Given the description of an element on the screen output the (x, y) to click on. 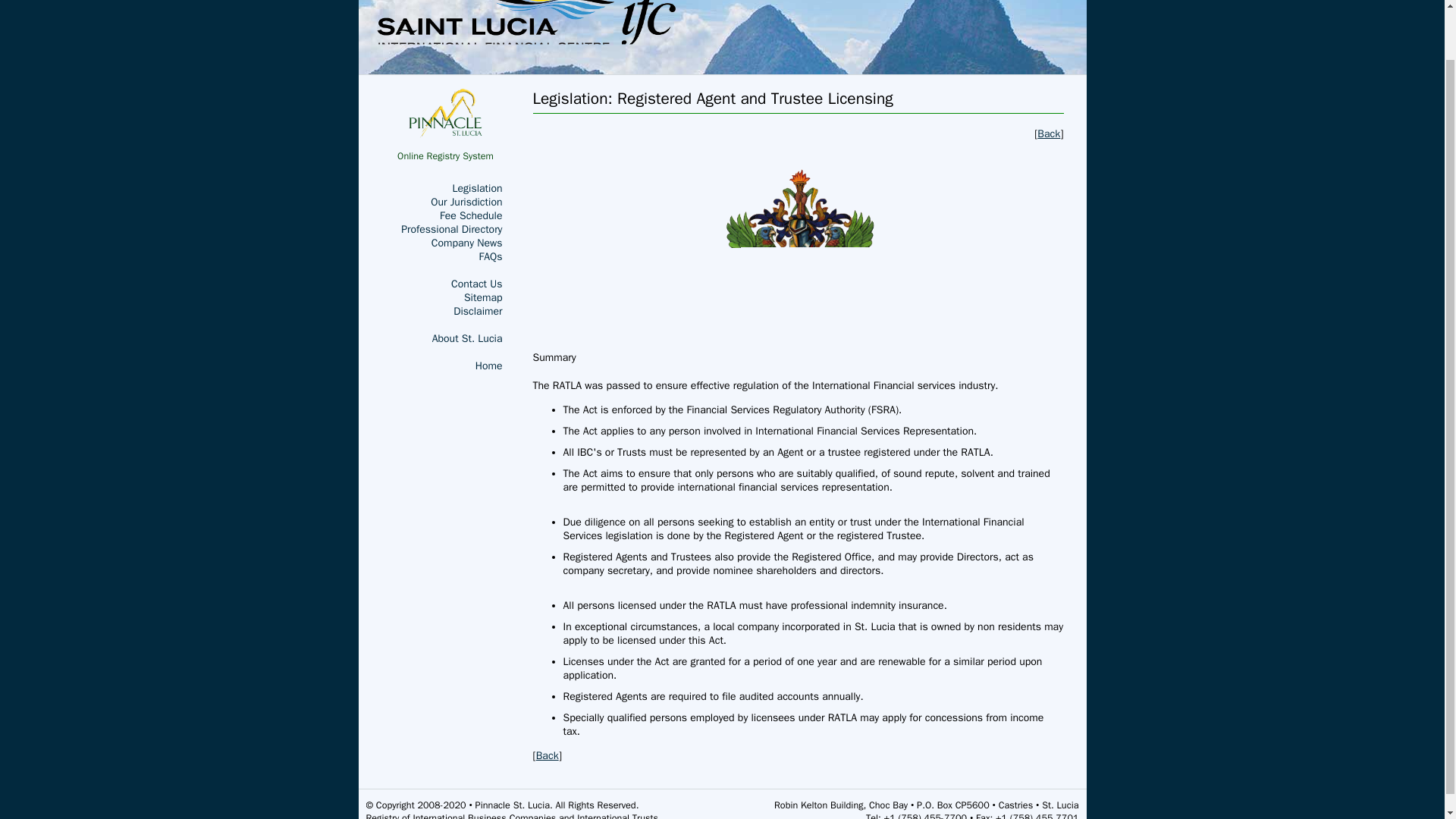
About St. Lucia (476, 283)
Online Registry System (445, 124)
News from the Jurisdiction (466, 242)
Company News (466, 242)
Our Jurisdiction (466, 201)
Professional Directory (451, 228)
Frequently asked questions (490, 256)
Online Registry System (445, 124)
Home (489, 365)
Legislation (477, 187)
